Given the description of an element on the screen output the (x, y) to click on. 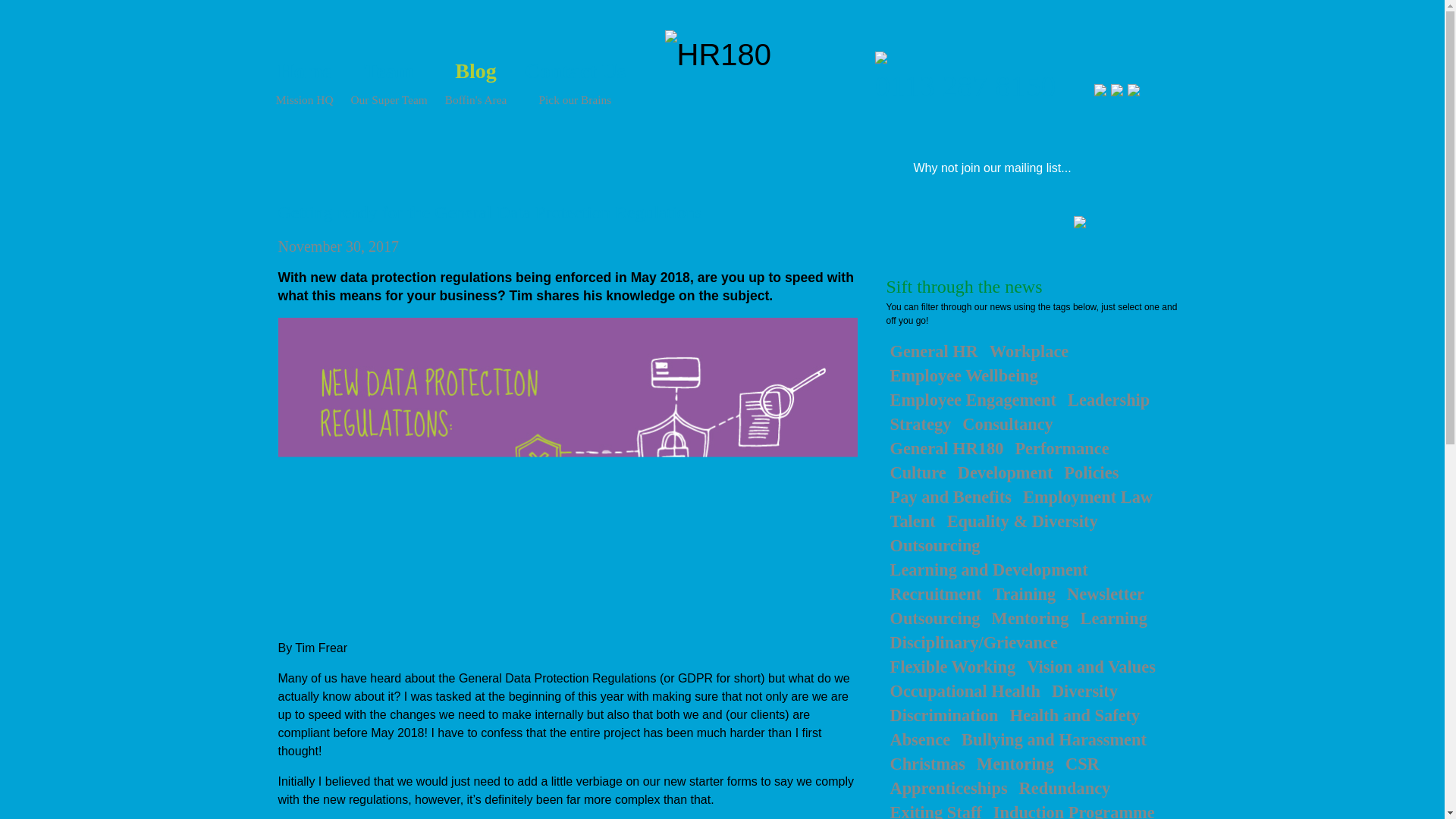
Talent (912, 521)
Employee Engagement (972, 400)
Outsourcing (934, 545)
Learning and Development (987, 569)
Employment Law (1087, 496)
Newsletter (1105, 594)
Culture (389, 69)
Consultancy (917, 473)
General HR180 (1007, 424)
